Given the description of an element on the screen output the (x, y) to click on. 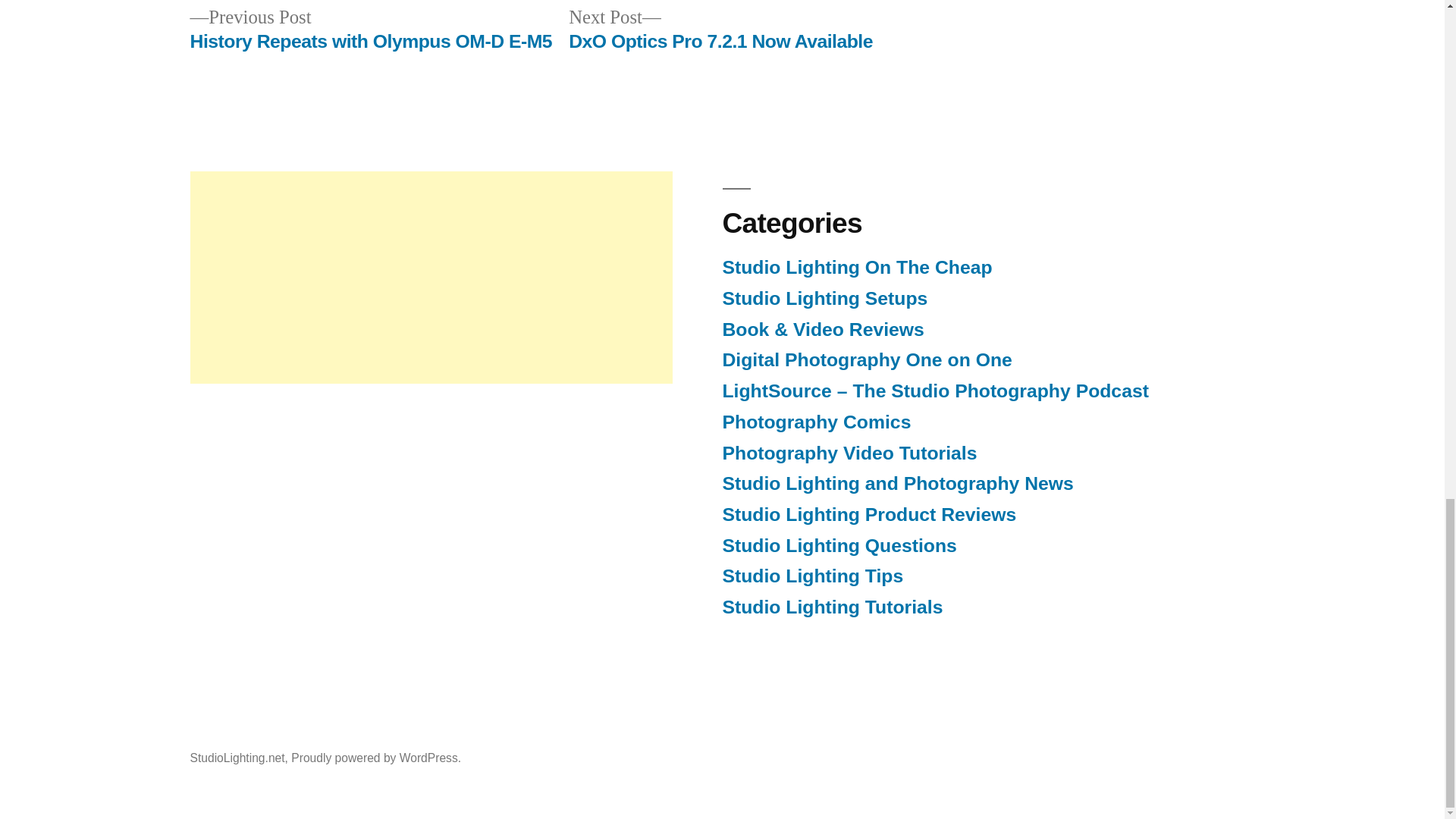
Advertisement (430, 277)
Over Exposure Photography Comics (816, 421)
Read reviews of photography books and videos. (822, 329)
